Given the description of an element on the screen output the (x, y) to click on. 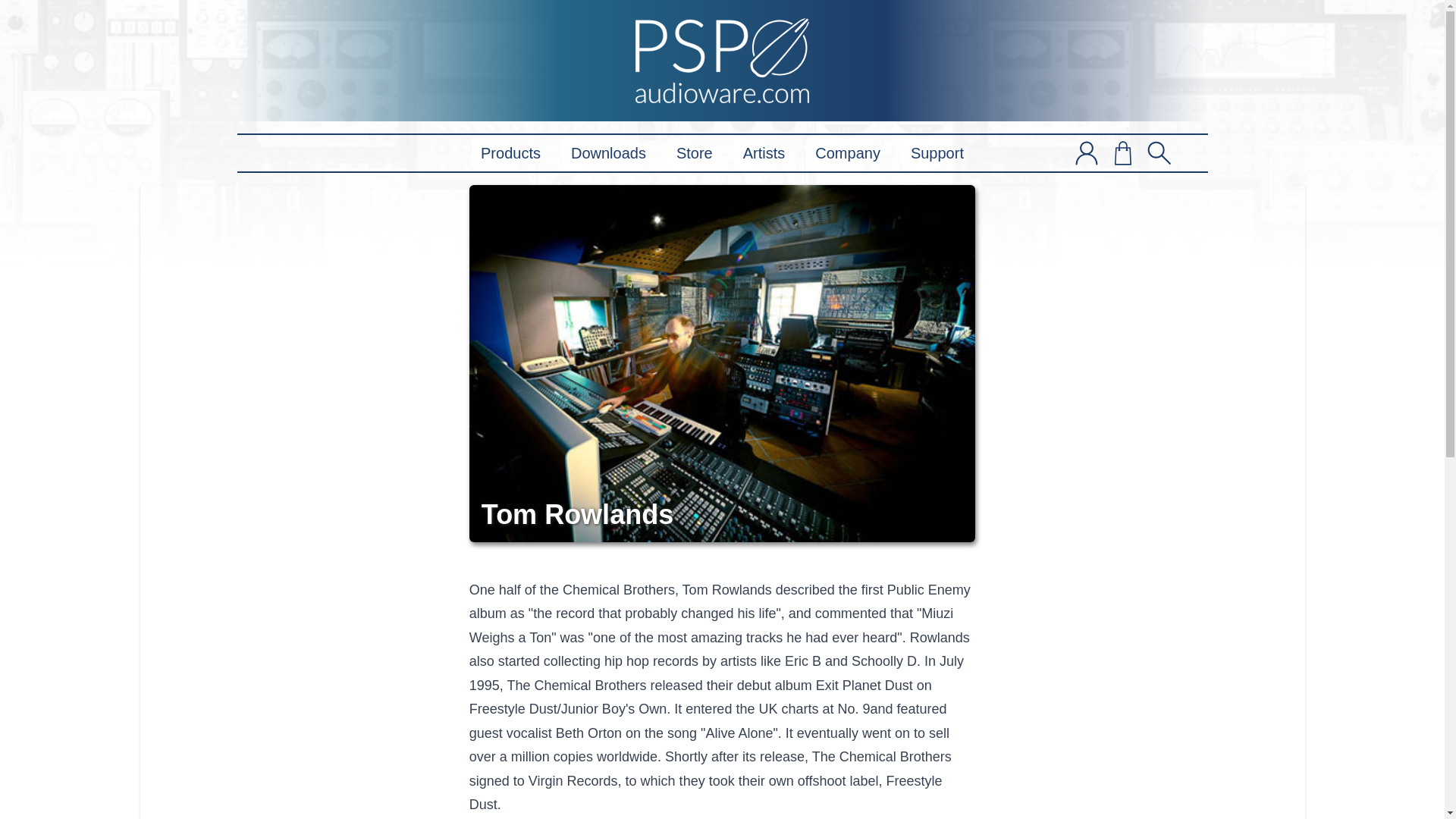
Products (510, 152)
Downloads (608, 152)
Store (694, 152)
Artists (763, 152)
Support (936, 152)
Company (847, 152)
